Given the description of an element on the screen output the (x, y) to click on. 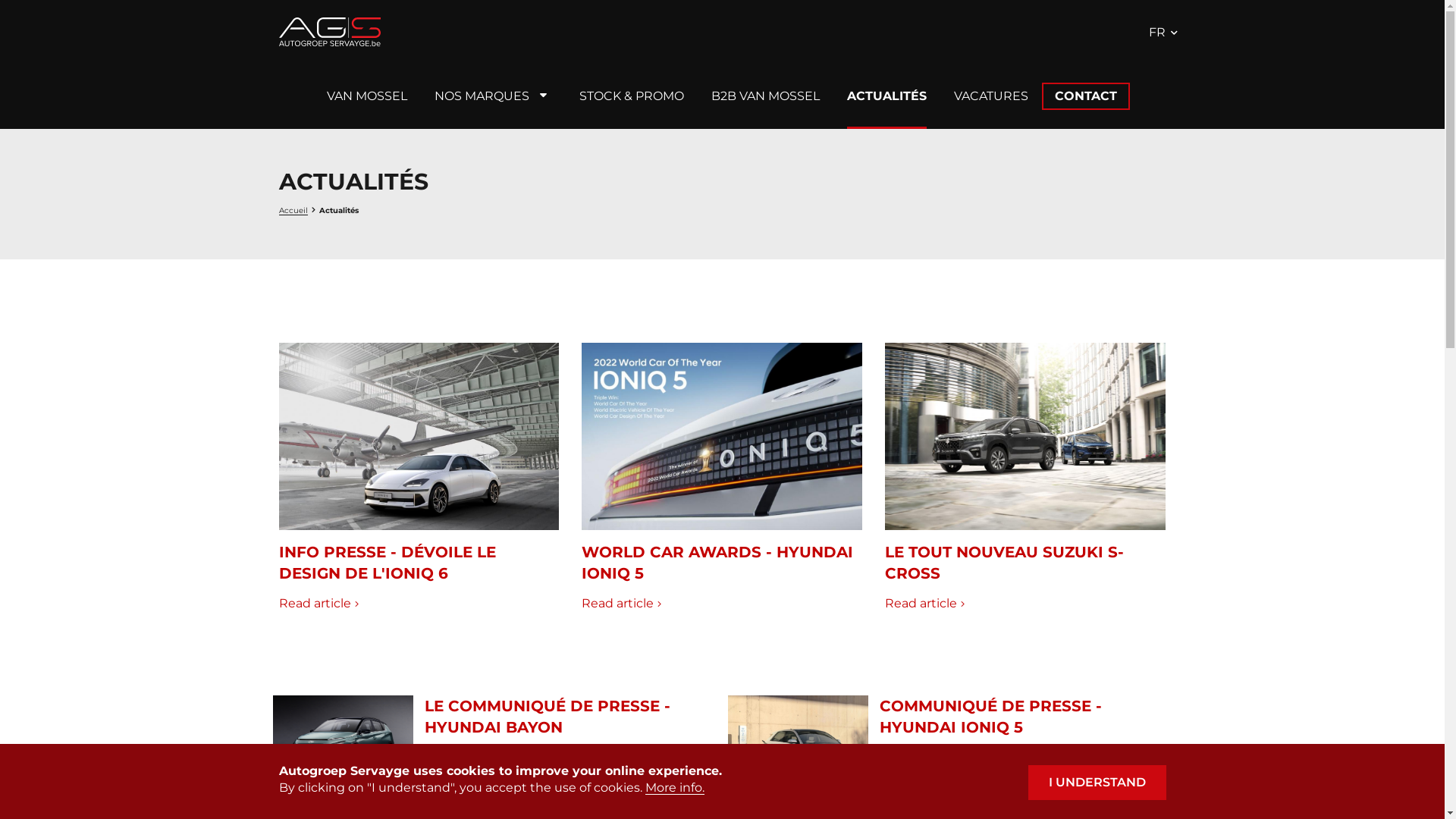
More info. Element type: text (673, 787)
CONTACT Element type: text (1085, 95)
I UNDERSTAND Element type: text (1097, 782)
Accueil Element type: text (293, 210)
VACATURES Element type: text (990, 95)
WORLD CAR AWARDS - HYUNDAI IONIQ 5 Element type: text (717, 562)
B2B VAN MOSSEL Element type: text (765, 95)
Read article Element type: text (919, 801)
NOS MARQUES Element type: text (480, 95)
VAN MOSSEL Element type: text (366, 95)
Accueil Element type: hover (329, 31)
Read article Element type: text (464, 801)
Read article Element type: text (924, 603)
Aller au contenu principal Element type: text (0, 0)
LE TOUT NOUVEAU SUZUKI S-CROSS Element type: text (1003, 562)
Read article Element type: text (621, 603)
Read article Element type: text (318, 603)
STOCK & PROMO Element type: text (631, 95)
